Given the description of an element on the screen output the (x, y) to click on. 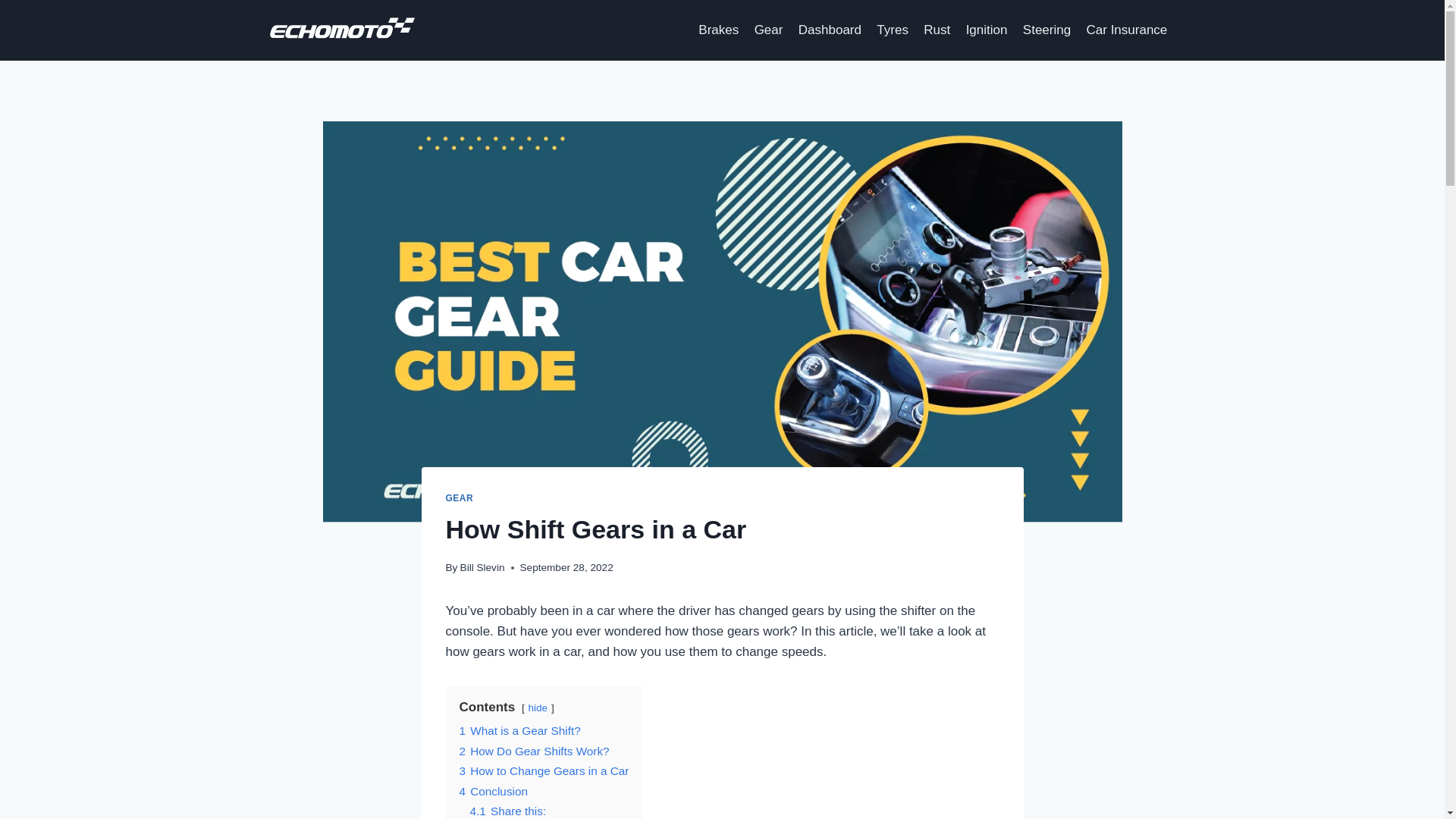
Gear (767, 29)
Dashboard (829, 29)
Car Insurance (1126, 29)
hide (537, 707)
2 How Do Gear Shifts Work? (535, 750)
Bill Slevin (482, 567)
Tyres (892, 29)
Ignition (986, 29)
Rust (936, 29)
Brakes (717, 29)
4.1 Share this: (508, 810)
Steering (1046, 29)
GEAR (459, 498)
1 What is a Gear Shift? (520, 730)
4 Conclusion (493, 790)
